Given the description of an element on the screen output the (x, y) to click on. 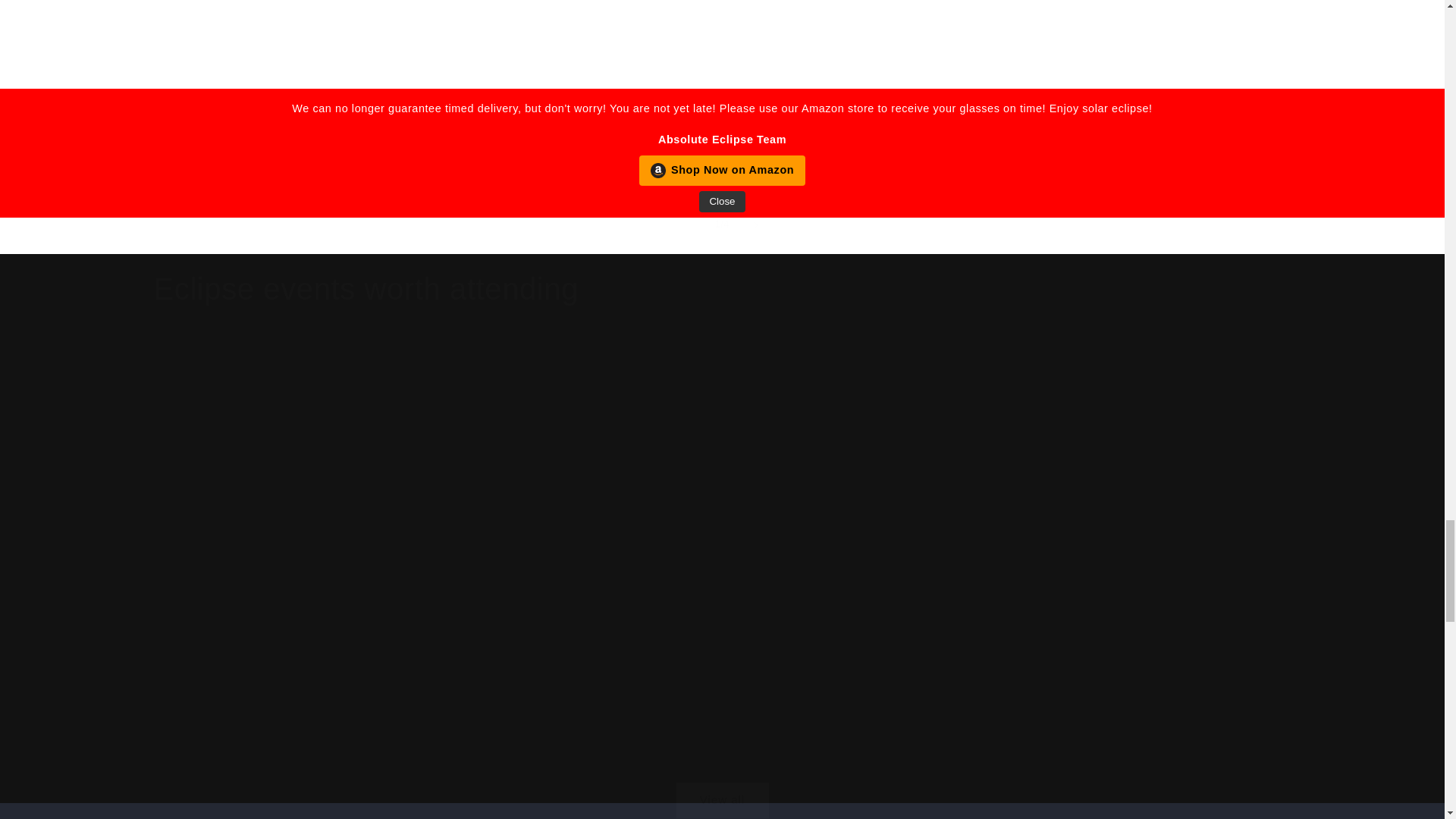
Eclipse events worth attending (365, 288)
View all (721, 781)
